Given the description of an element on the screen output the (x, y) to click on. 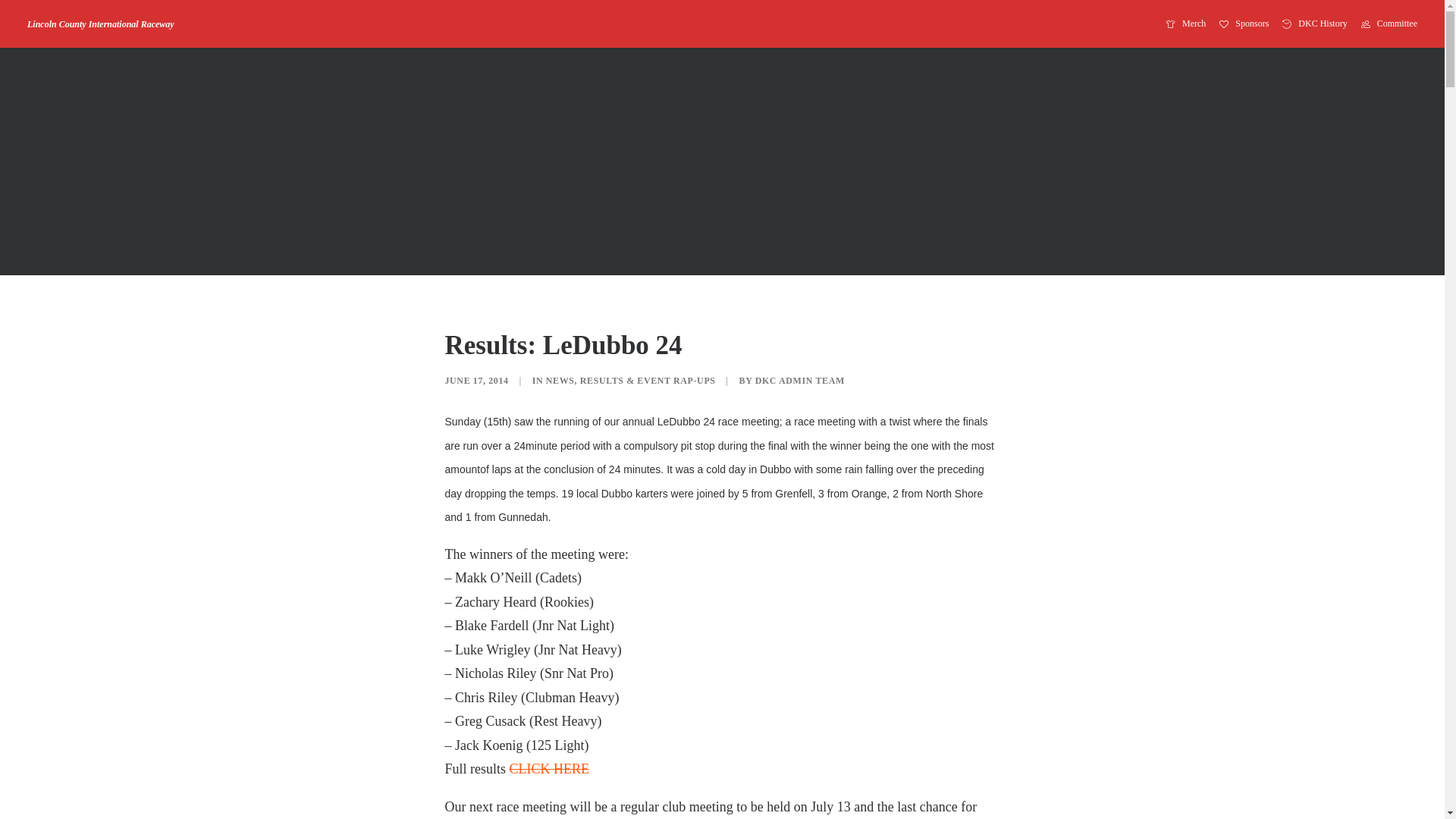
NEWS, RESULTS & EVENT RAP-UPS Element type: text (630, 380)
DKC ADMIN TEAM Element type: text (799, 380)
Committee Element type: text (1385, 23)
Sponsors Element type: text (1243, 23)
Merch Element type: text (1189, 23)
DKC History Element type: text (1314, 23)
CLICK HERE Element type: text (549, 768)
